Given the description of an element on the screen output the (x, y) to click on. 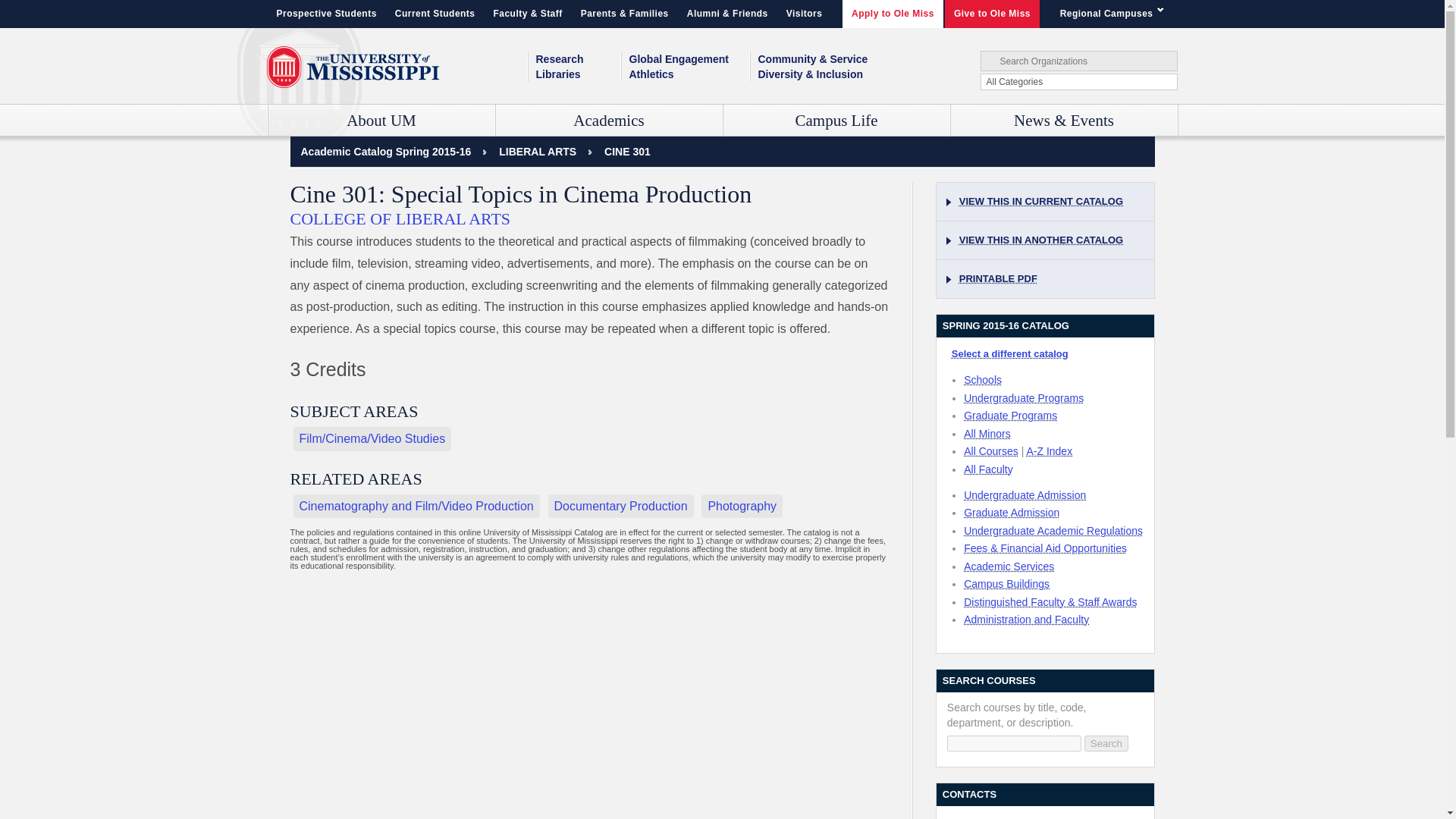
Regional Campuses (1114, 13)
Current Students (434, 13)
COLLEGE OF LIBERAL ARTS (537, 151)
Athletics (688, 73)
Catalog home page (384, 151)
Search UM for anything... (1077, 60)
Apply to Ole Miss (893, 13)
Research (577, 58)
Give to Ole Miss (991, 13)
Academics (609, 120)
Global Engagement (688, 58)
Prospective Students (325, 13)
Special Topics in Cinema Production (627, 151)
Search (1106, 743)
Campus Life (836, 120)
